Given the description of an element on the screen output the (x, y) to click on. 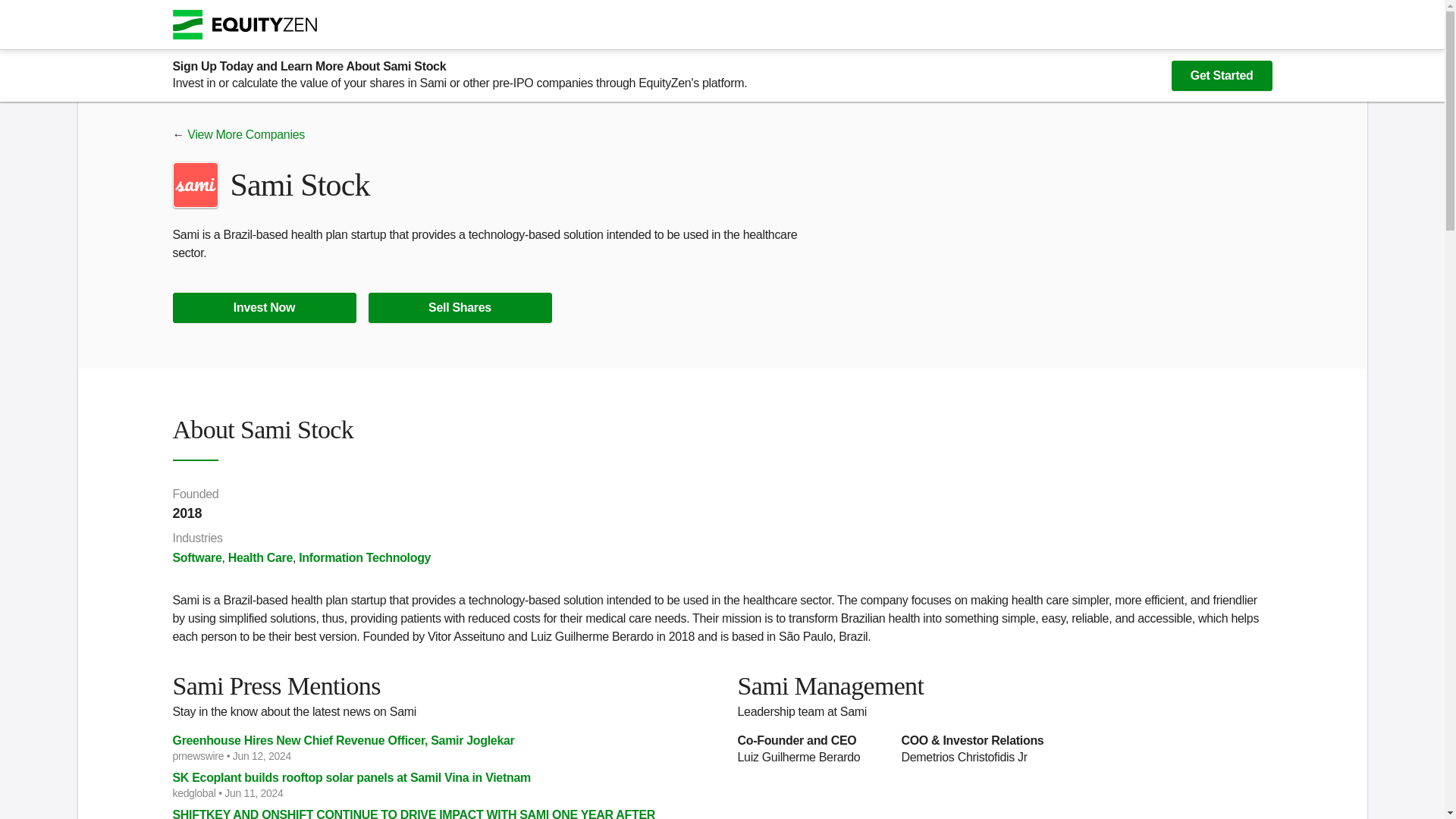
Invest Now (264, 307)
Greenhouse Hires New Chief Revenue Officer, Samir Joglekar (440, 739)
Information Technology (364, 557)
Get Started (1222, 75)
View More Companies (245, 133)
Health Care (260, 557)
Sell Shares (459, 307)
Software (197, 557)
